Given the description of an element on the screen output the (x, y) to click on. 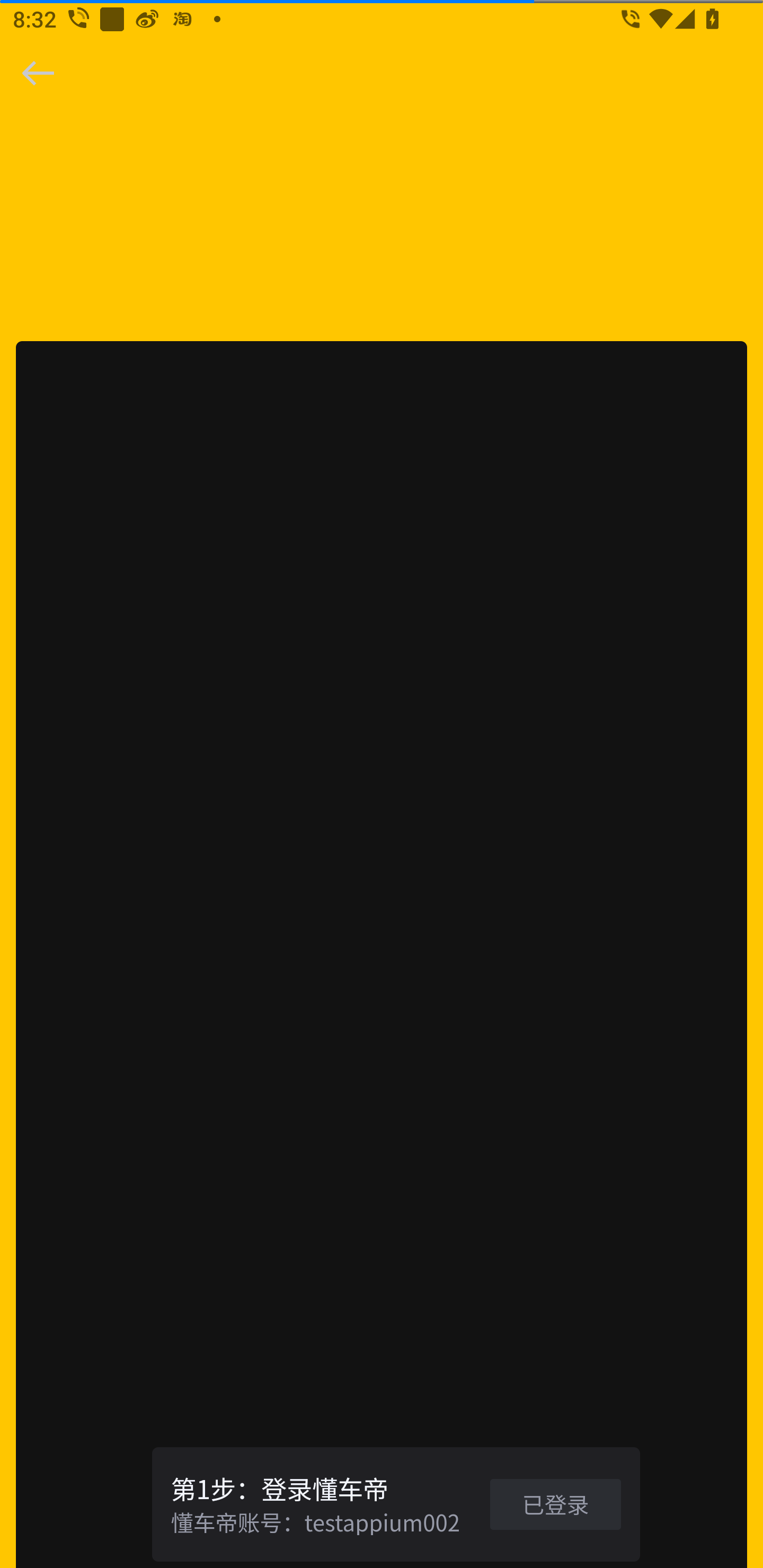
已登录 (555, 1503)
